Given the description of an element on the screen output the (x, y) to click on. 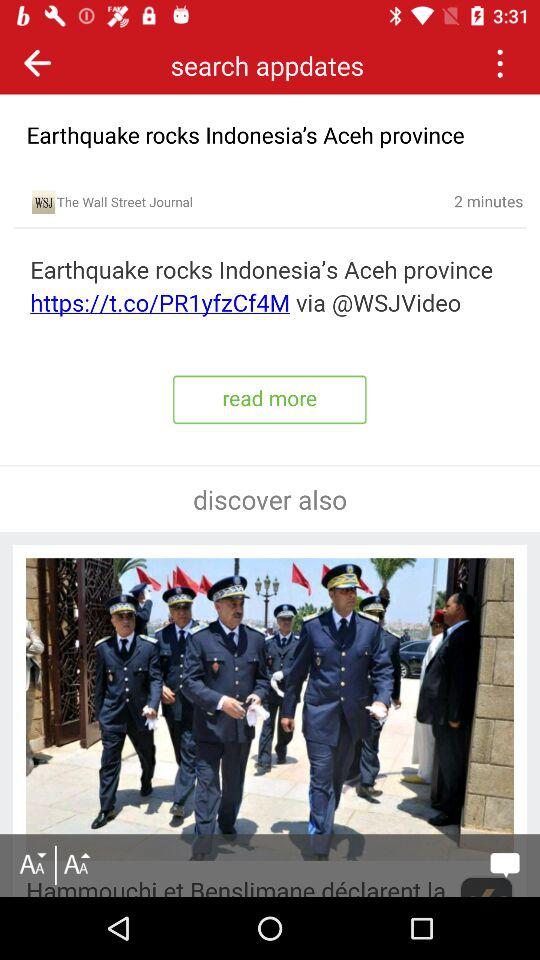
view article (269, 287)
